Given the description of an element on the screen output the (x, y) to click on. 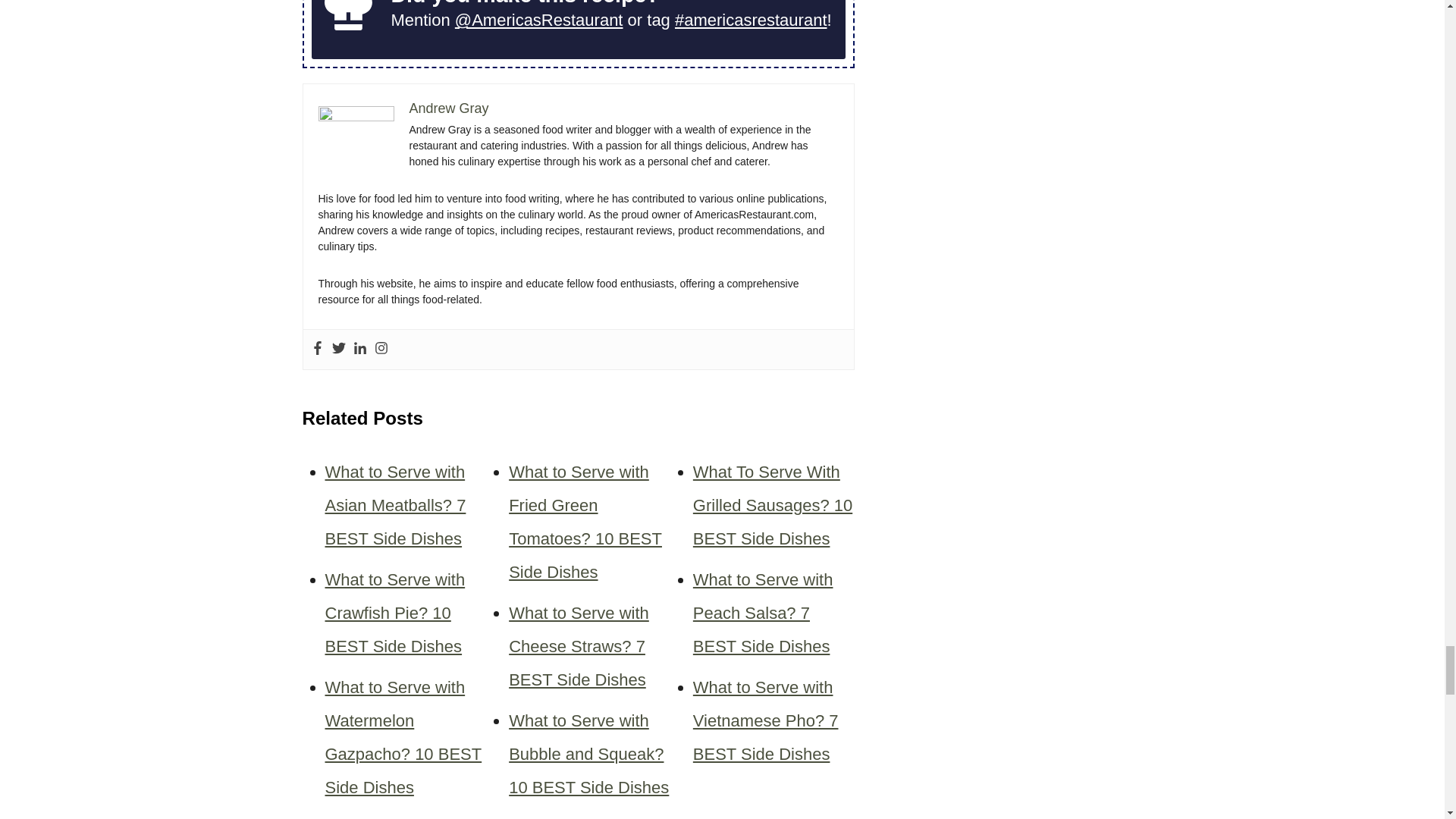
What to Serve with Asian Meatballs? 7 BEST Side Dishes (394, 504)
What to Serve with Peach Salsa? 7 BEST Side Dishes (762, 613)
What to Serve with Crawfish Pie? 10 BEST Side Dishes (394, 613)
Andrew Gray (449, 108)
What to Serve with Cheese Straws? 7 BEST Side Dishes (578, 646)
What to Serve with Watermelon Gazpacho? 10 BEST Side Dishes (402, 737)
What to Serve with Vietnamese Pho? 7 BEST Side Dishes (765, 720)
What to Serve with Bubble and Squeak? 10 BEST Side Dishes (588, 753)
What to Serve with Fried Green Tomatoes? 10 BEST Side Dishes (585, 521)
What To Serve With Grilled Sausages? 10 BEST Side Dishes (772, 504)
